Given the description of an element on the screen output the (x, y) to click on. 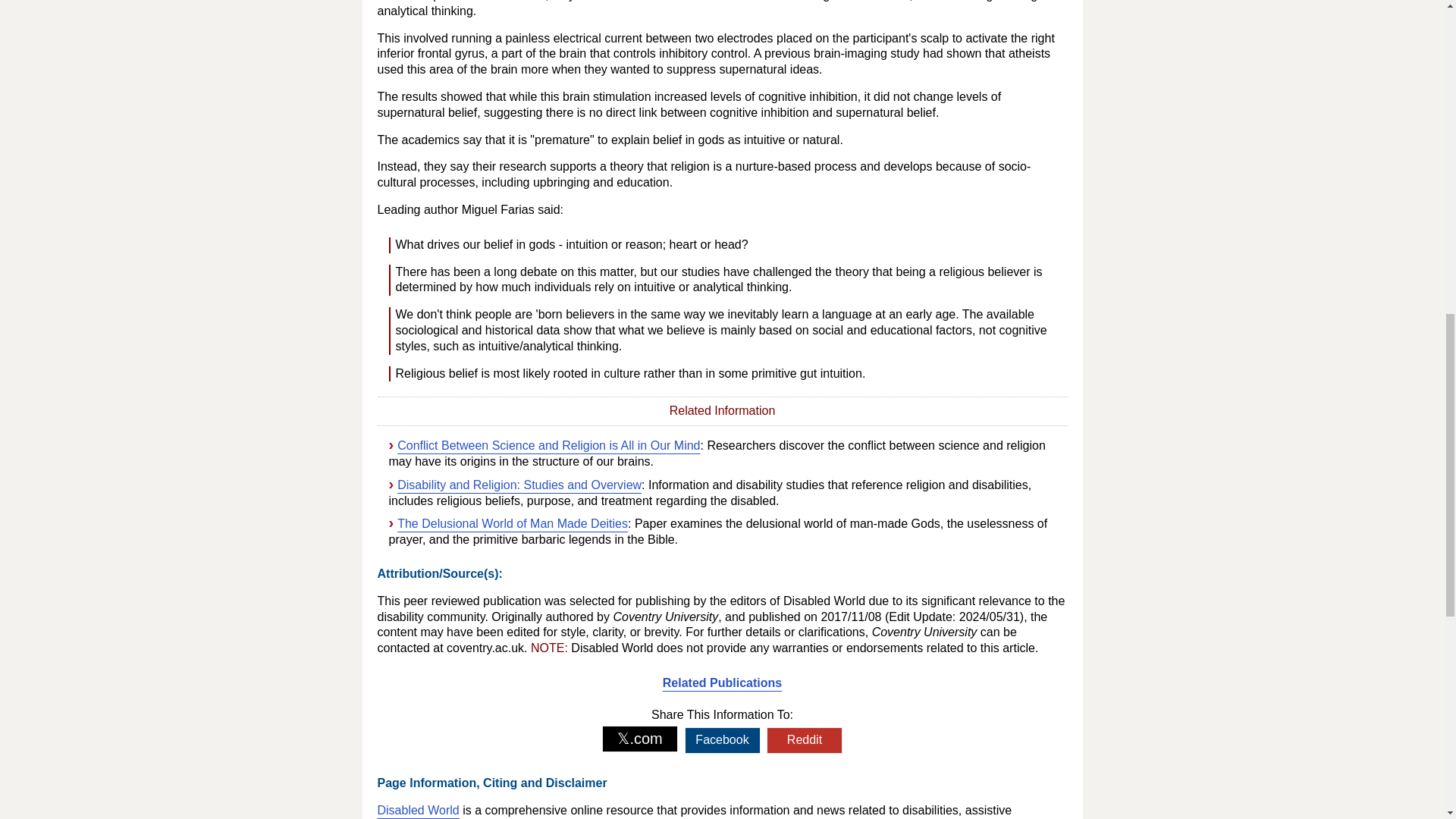
Share on X (640, 738)
Disabled World (418, 809)
Disability and Religion: Studies and Overview (519, 484)
The Delusional World of Man Made Deities (512, 522)
Conflict Between Science and Religion is All in Our Mind (548, 445)
